Given the description of an element on the screen output the (x, y) to click on. 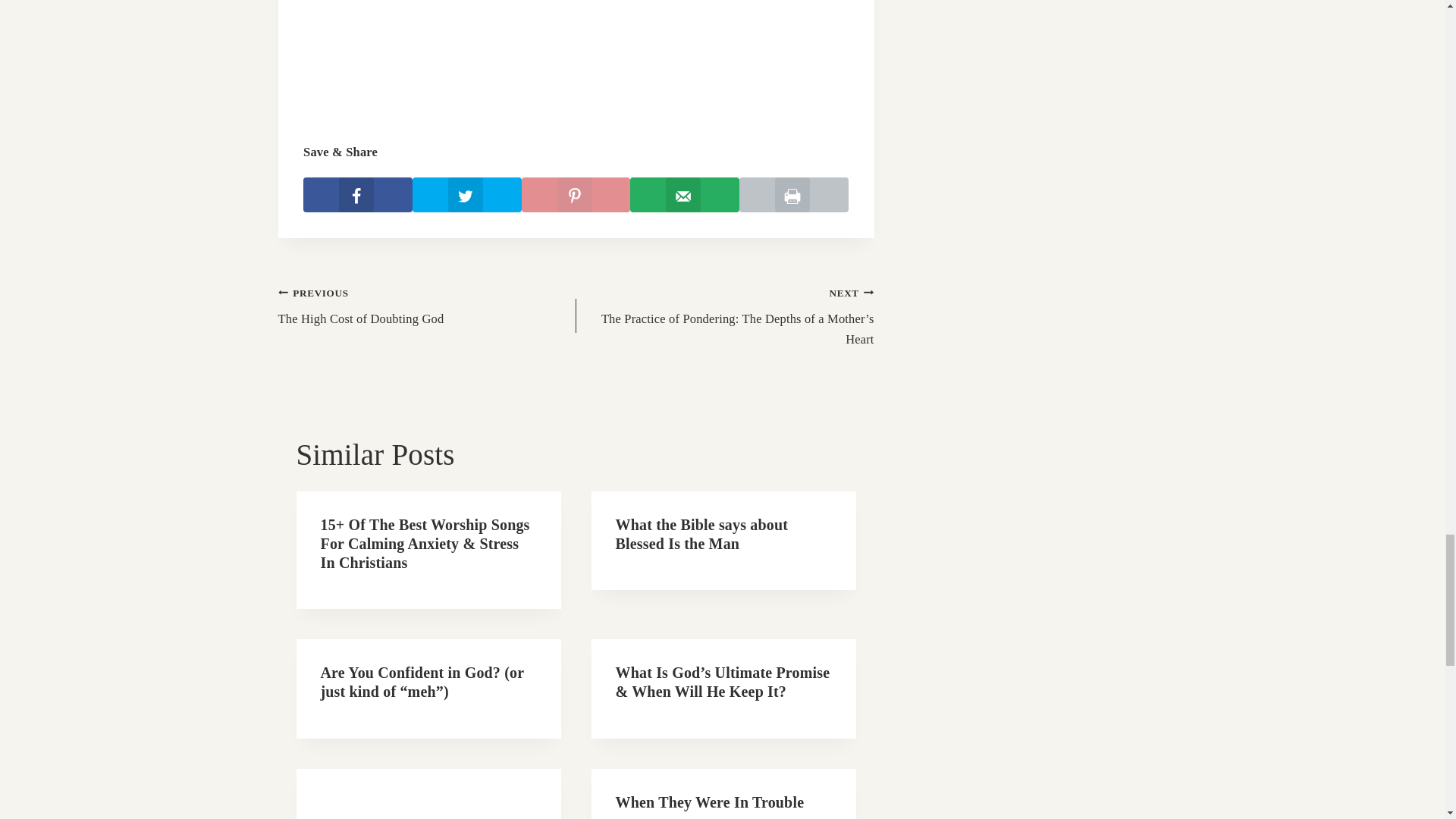
Print this webpage (793, 201)
Share on Facebook (426, 311)
Send over email (357, 201)
Save to Pinterest (684, 201)
Share on Twitter (575, 201)
